Given the description of an element on the screen output the (x, y) to click on. 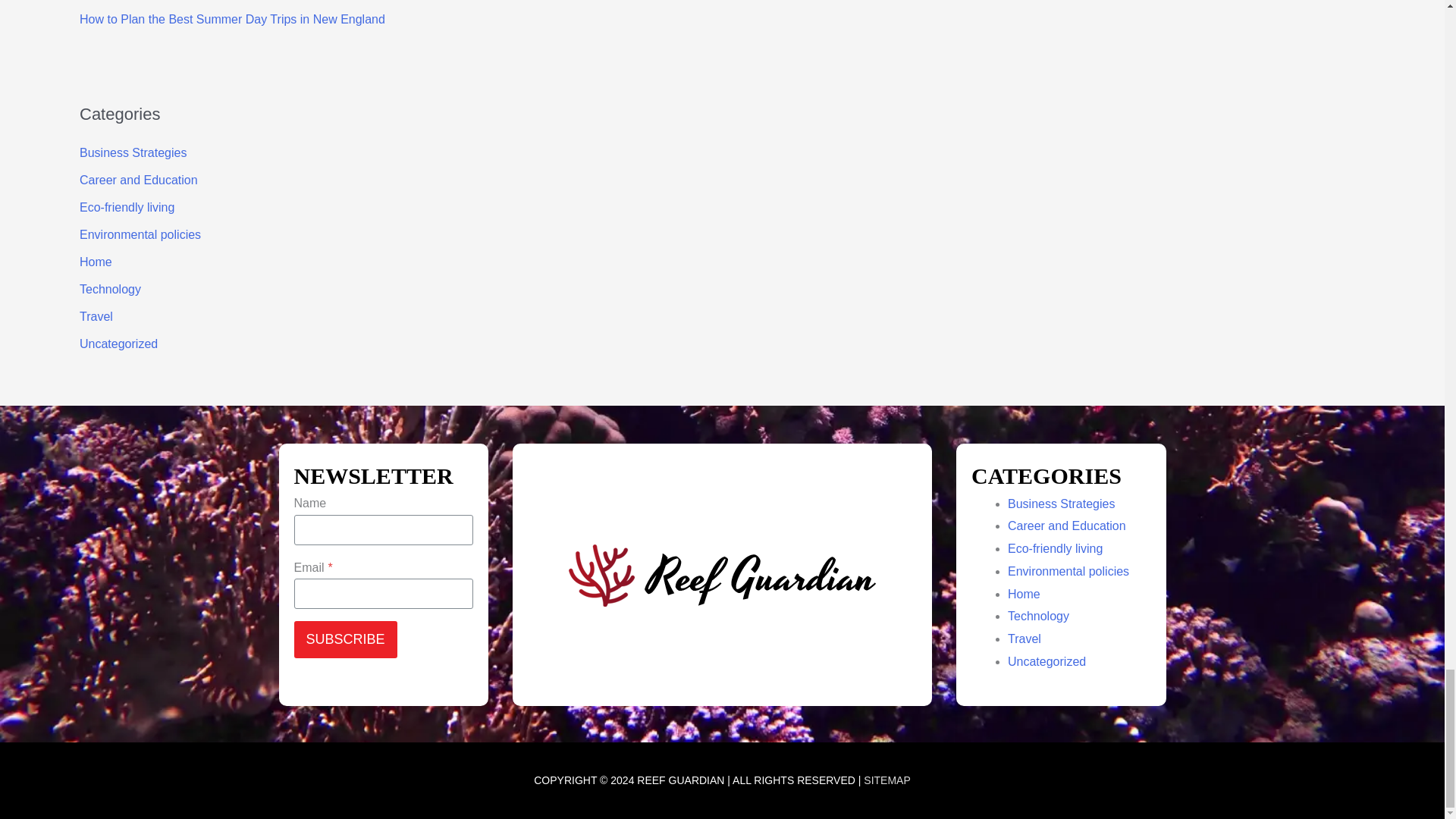
Business Strategies (1061, 503)
Technology (110, 288)
SUBSCRIBE (345, 638)
Career and Education (139, 179)
Travel (96, 316)
Eco-friendly living (127, 206)
Uncategorized (118, 343)
Home (96, 261)
How to Plan the Best Summer Day Trips in New England (232, 19)
Environmental policies (140, 234)
Business Strategies (133, 152)
